Given the description of an element on the screen output the (x, y) to click on. 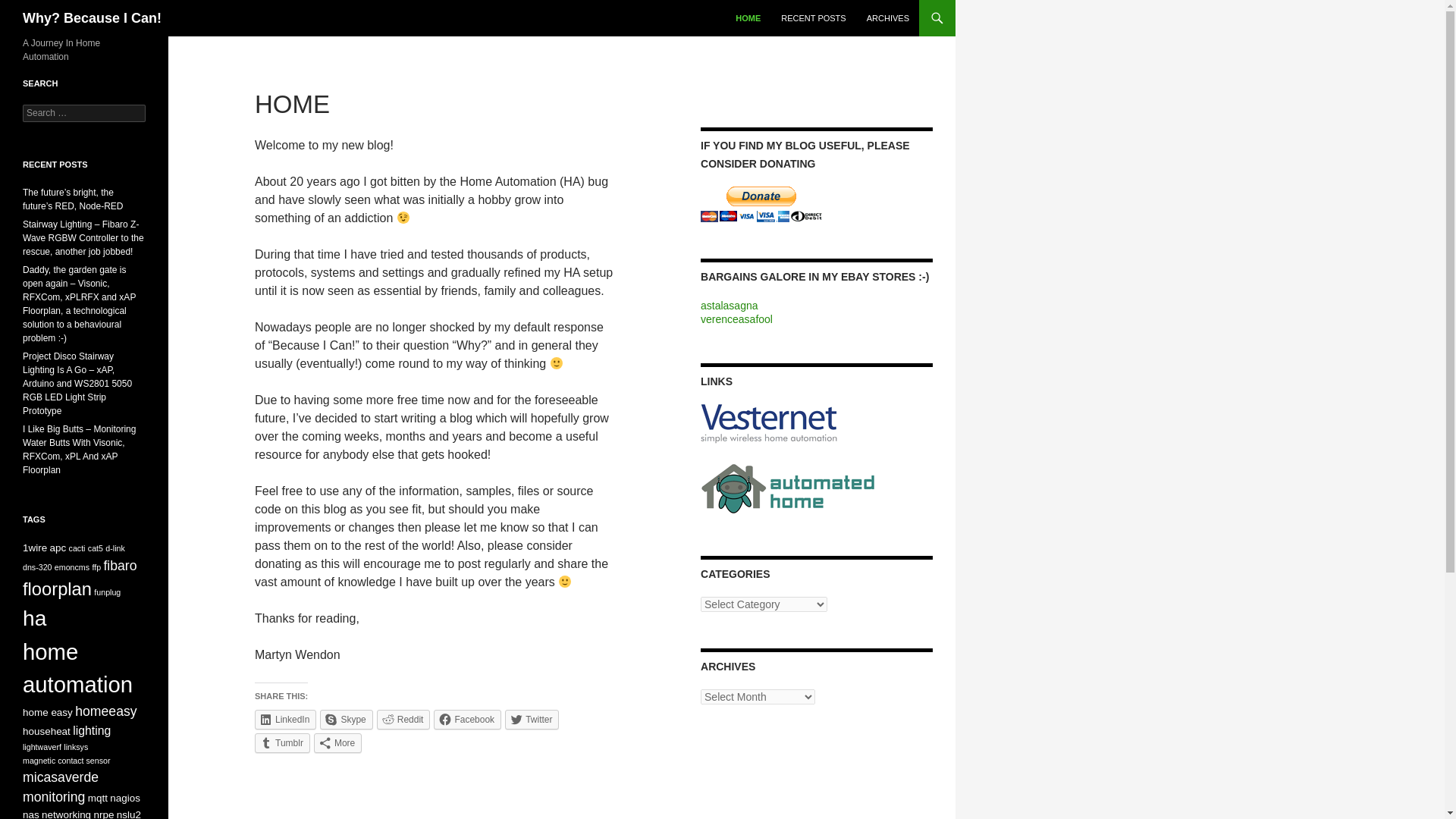
HOME (748, 18)
Bargains galore in my eBay stores! (736, 318)
Facebook (466, 719)
Click to share on Skype (346, 719)
floorplan (57, 588)
d-link (113, 547)
astalasagna (729, 305)
RECENT POSTS (812, 18)
Vesternet - simple wireless home automation (768, 422)
cacti (76, 547)
1wire (34, 547)
Search (30, 8)
ARCHIVES (887, 18)
Tumblr (282, 742)
Donate if you find my blog useful! (761, 203)
